Given the description of an element on the screen output the (x, y) to click on. 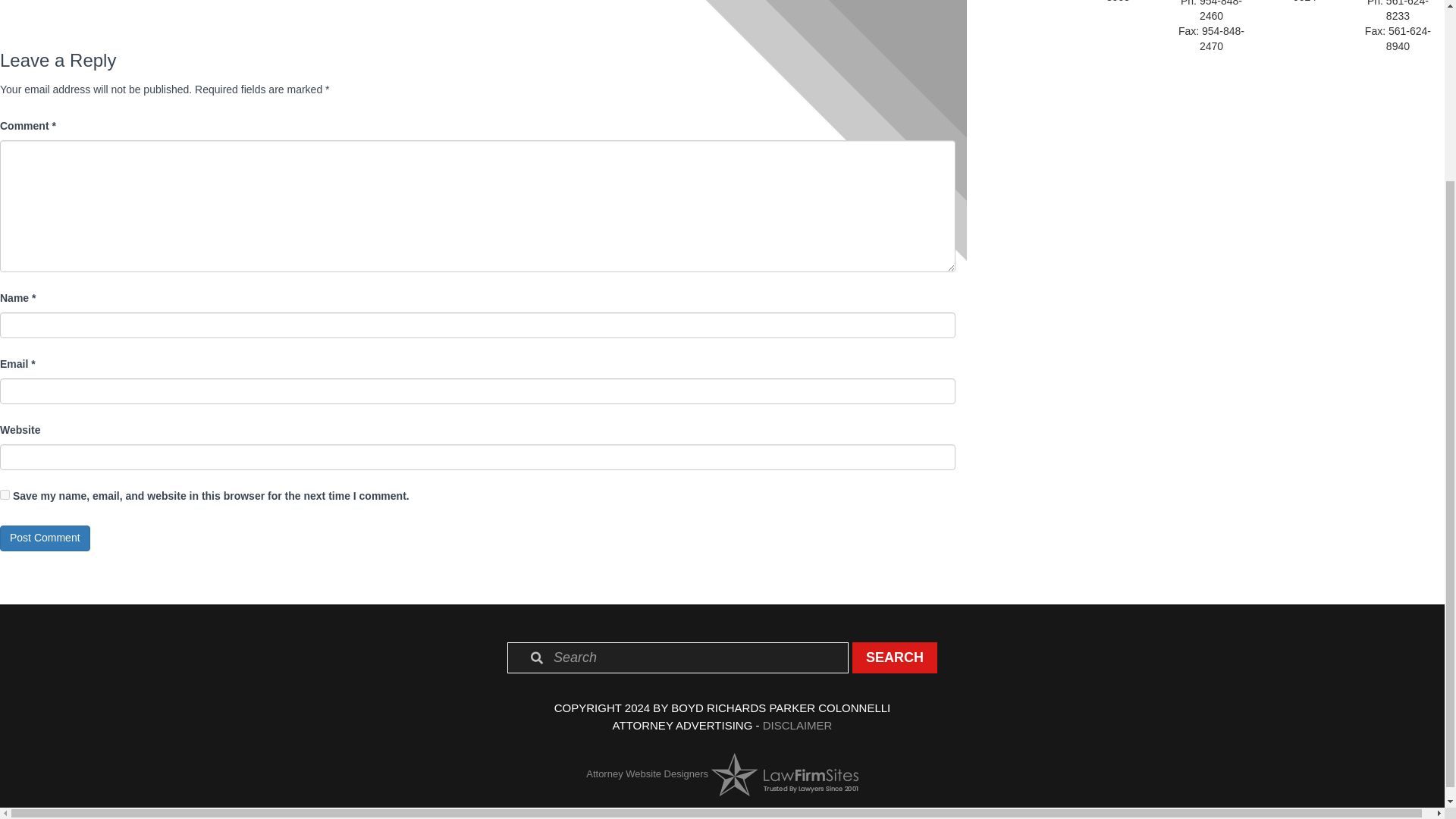
law website design (646, 773)
Post Comment (45, 538)
yes (5, 494)
